Given the description of an element on the screen output the (x, y) to click on. 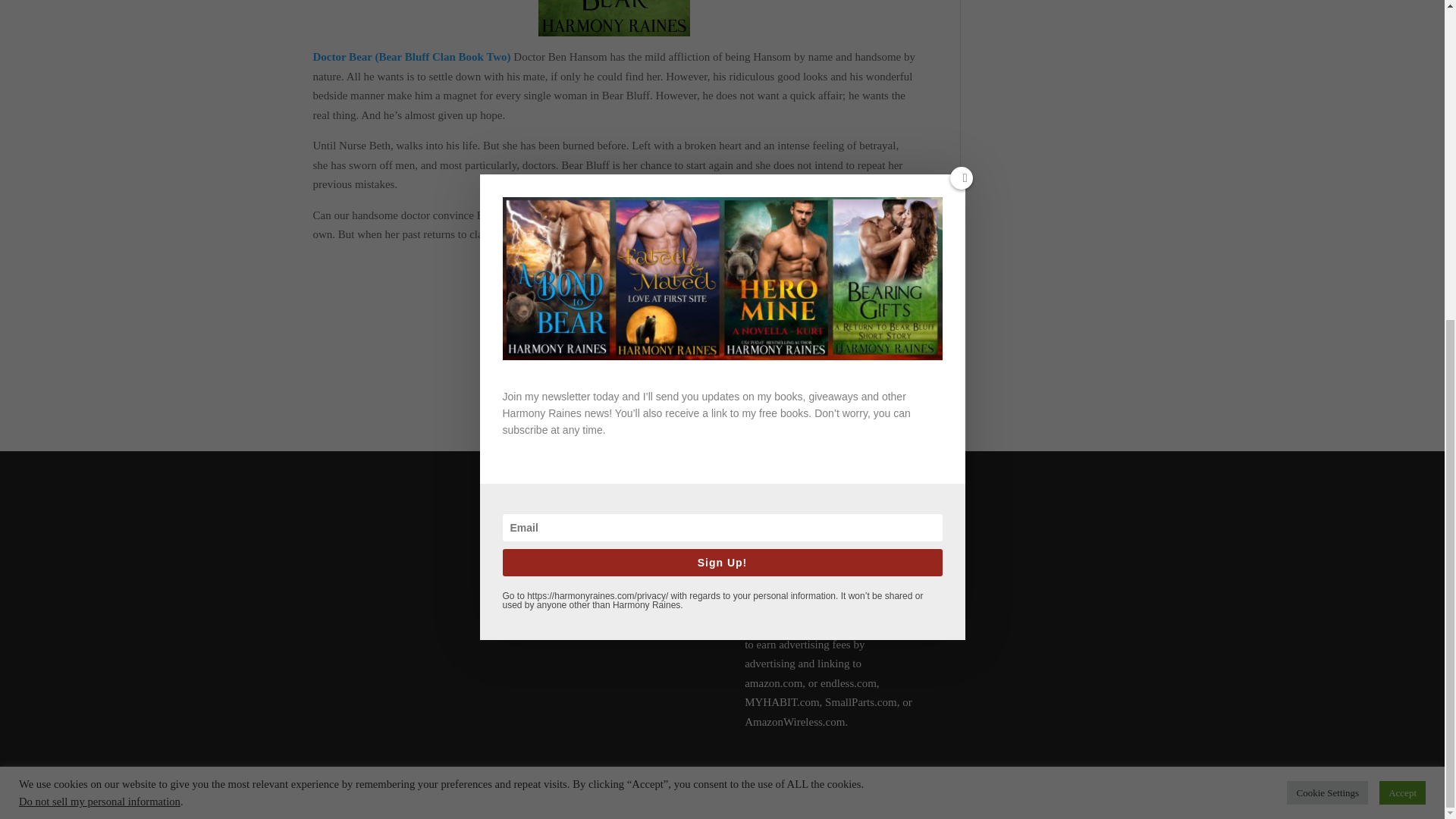
WordPress (542, 797)
Accept (1401, 274)
Do not sell my personal information (99, 283)
Elegant Themes (411, 797)
Privacy (545, 508)
Premium WordPress Themes (411, 797)
Cookie Settings (1327, 274)
